Given the description of an element on the screen output the (x, y) to click on. 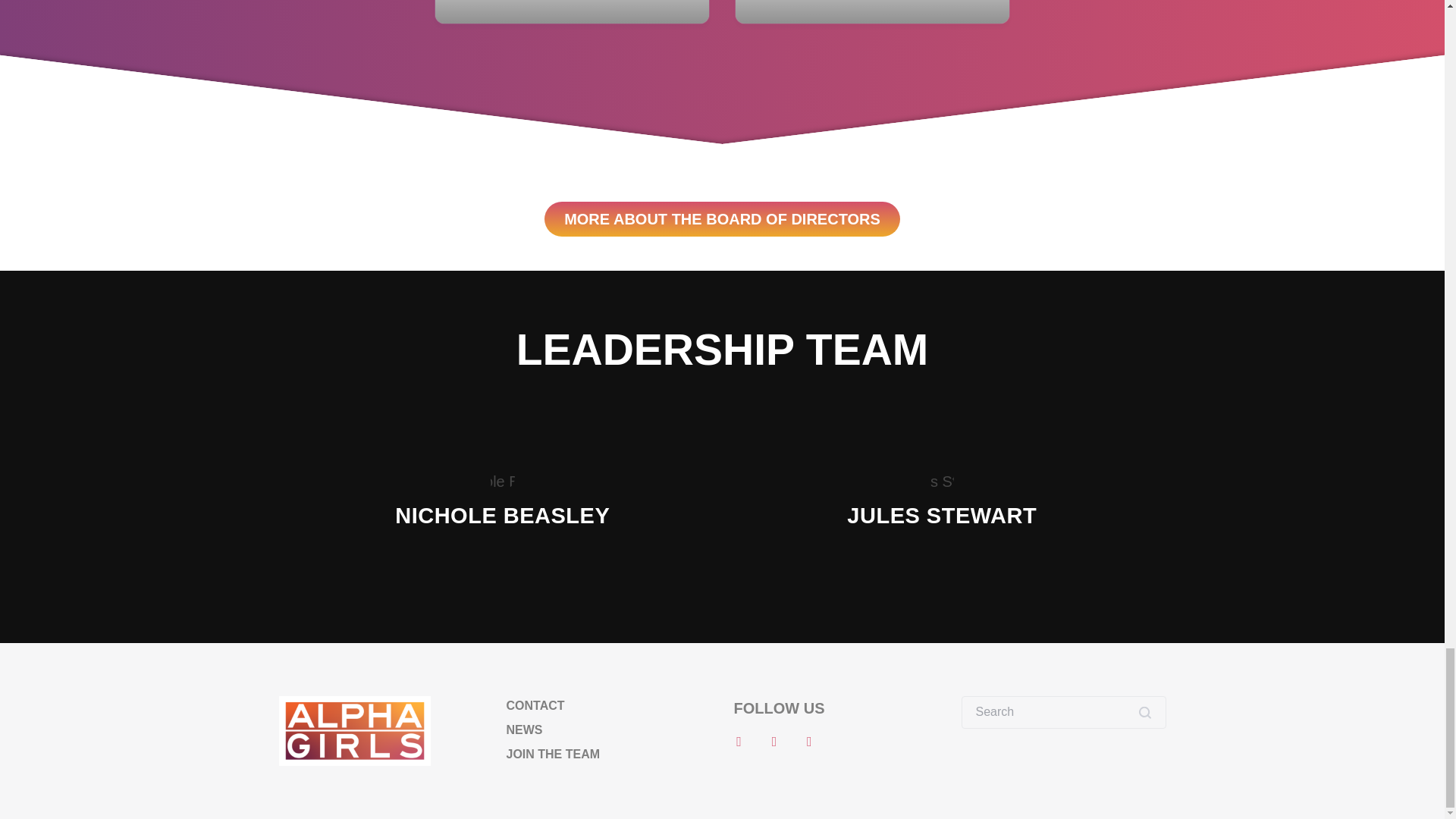
NEWS (524, 729)
MORE ABOUT THE BOARD OF DIRECTORS (721, 218)
mail (809, 739)
instagram (774, 739)
JOIN THE TEAM (552, 753)
CONTACT (535, 705)
facebook (739, 739)
